Given the description of an element on the screen output the (x, y) to click on. 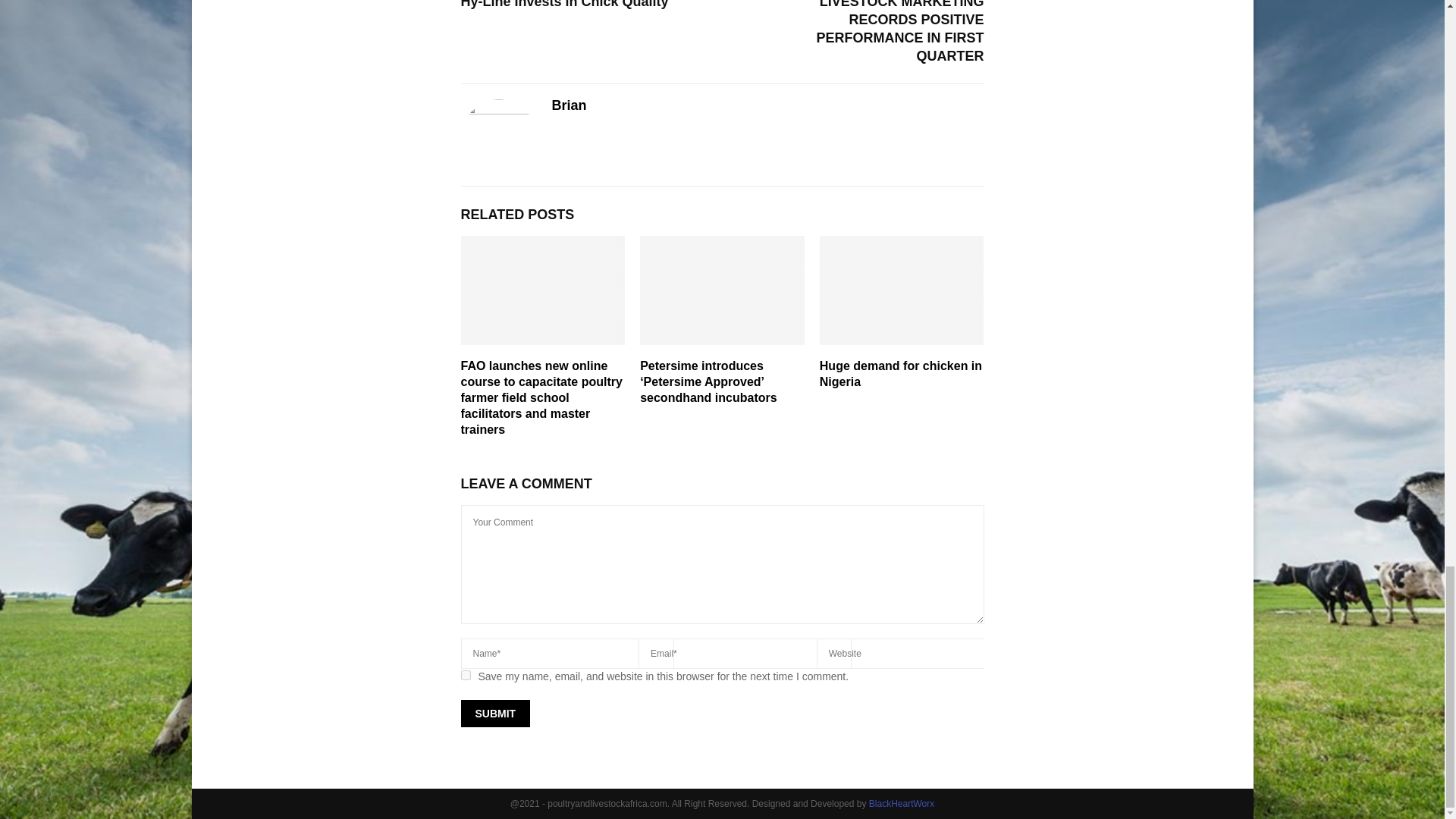
Hy-Line Invests in Chick Quality (564, 4)
Submit (496, 713)
yes (465, 675)
Posts by Brian (568, 105)
Brian (568, 105)
